Given the description of an element on the screen output the (x, y) to click on. 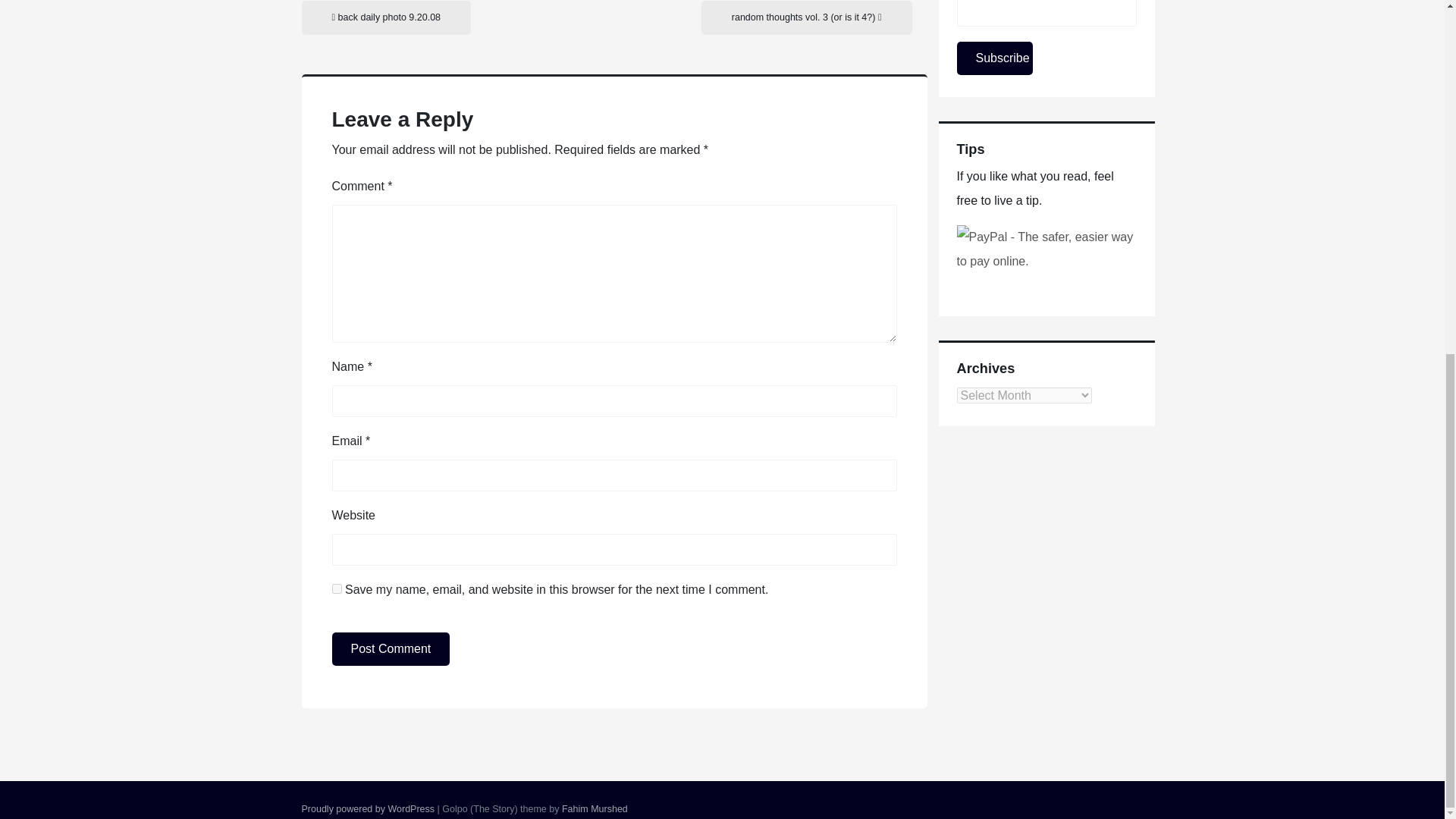
Post Comment (390, 648)
back daily photo 9.20.08 (386, 17)
Fahim Murshed (594, 808)
Proudly powered by WordPress (368, 808)
Post Comment (390, 648)
yes (336, 588)
Subscribe (994, 58)
